Given the description of an element on the screen output the (x, y) to click on. 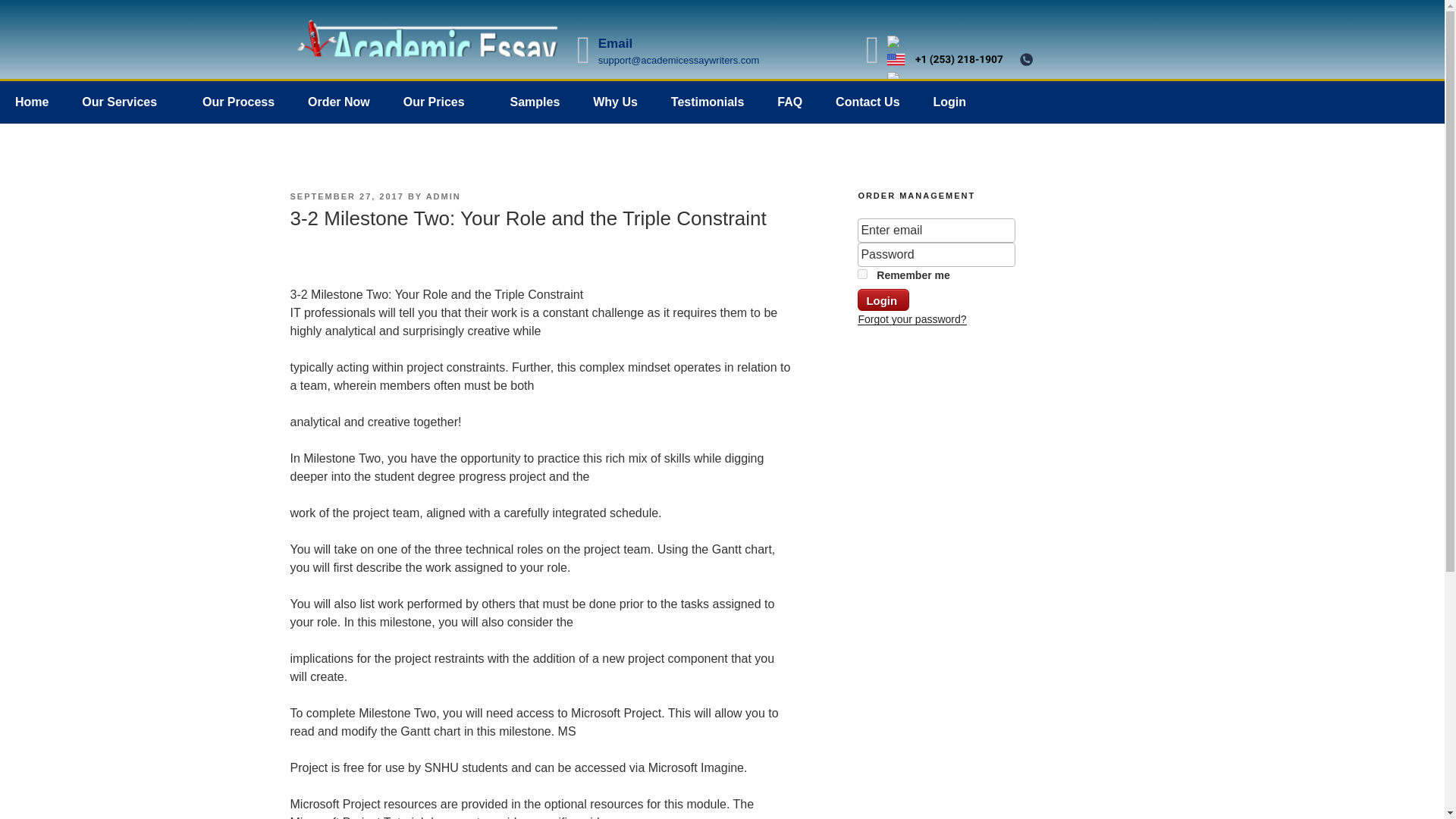
Login (949, 102)
Recover password (911, 318)
click to Login (882, 300)
Our Process (238, 102)
Home (32, 102)
Order Now (338, 102)
Contact Us (867, 102)
Login (882, 300)
Our Services (125, 102)
Why Us (615, 102)
Forgot your password? (911, 318)
Testimonials (708, 102)
Our Prices (440, 102)
on (862, 274)
ADMIN (443, 195)
